Given the description of an element on the screen output the (x, y) to click on. 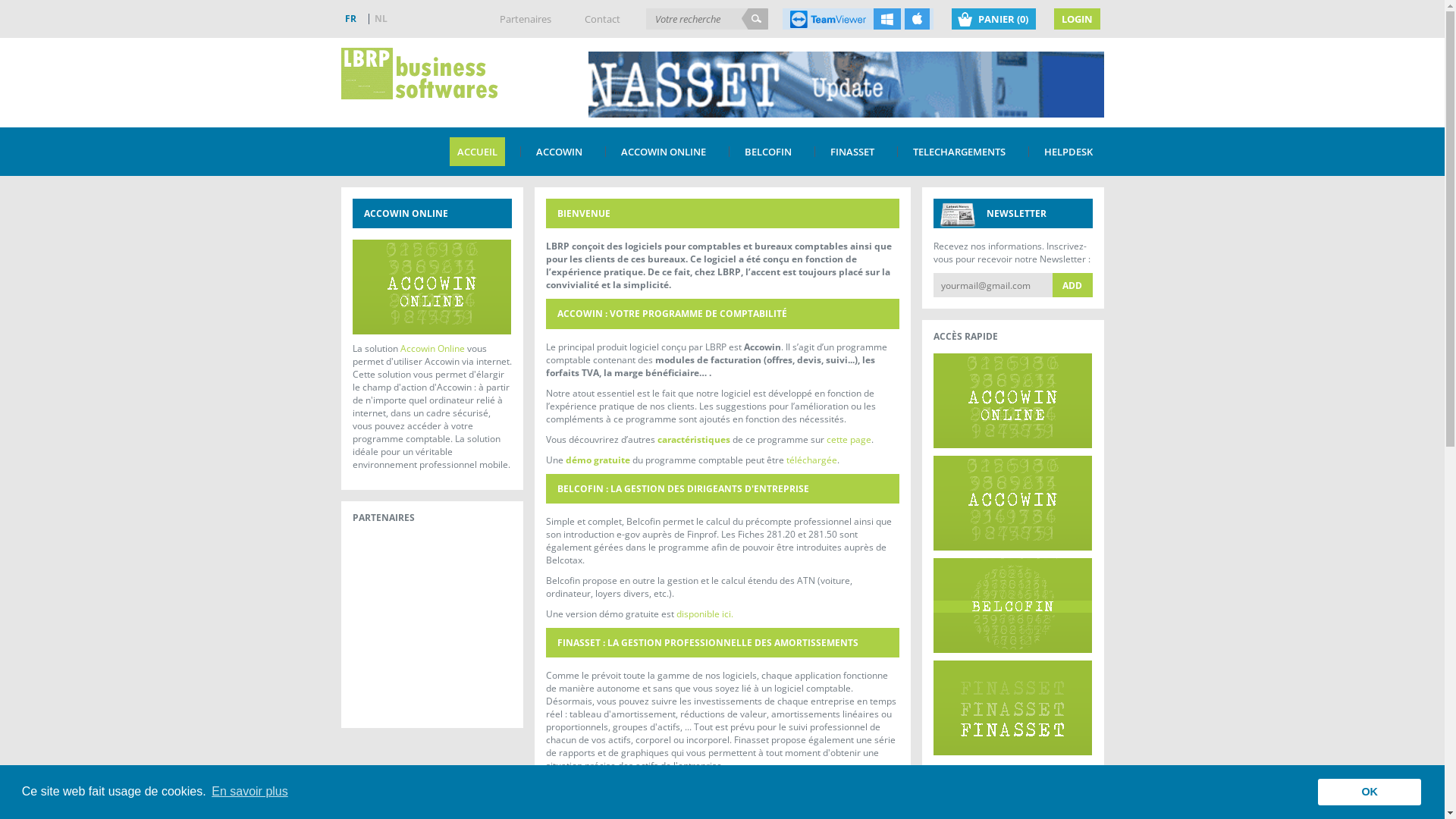
FR Element type: text (352, 18)
LOGIN Element type: text (1077, 18)
Partenaires Element type: text (524, 18)
PANIER (0) Element type: text (992, 18)
NL Element type: text (380, 18)
TELECHARGEMENTS Element type: text (959, 151)
ACCUEIL Element type: text (476, 151)
OK Element type: text (1369, 791)
ACCOWIN Element type: text (558, 151)
Accowin Online Element type: text (432, 348)
Recherche Element type: text (754, 18)
cette page Element type: text (848, 439)
HELPDESK Element type: text (1067, 151)
disponible ici. Element type: text (704, 613)
ACCOWIN ONLINE Element type: text (662, 151)
BELCOFIN Element type: text (768, 151)
En savoir plus Element type: text (249, 791)
Add Element type: text (1072, 285)
Contact Element type: text (601, 18)
FINASSET Element type: text (851, 151)
